Given the description of an element on the screen output the (x, y) to click on. 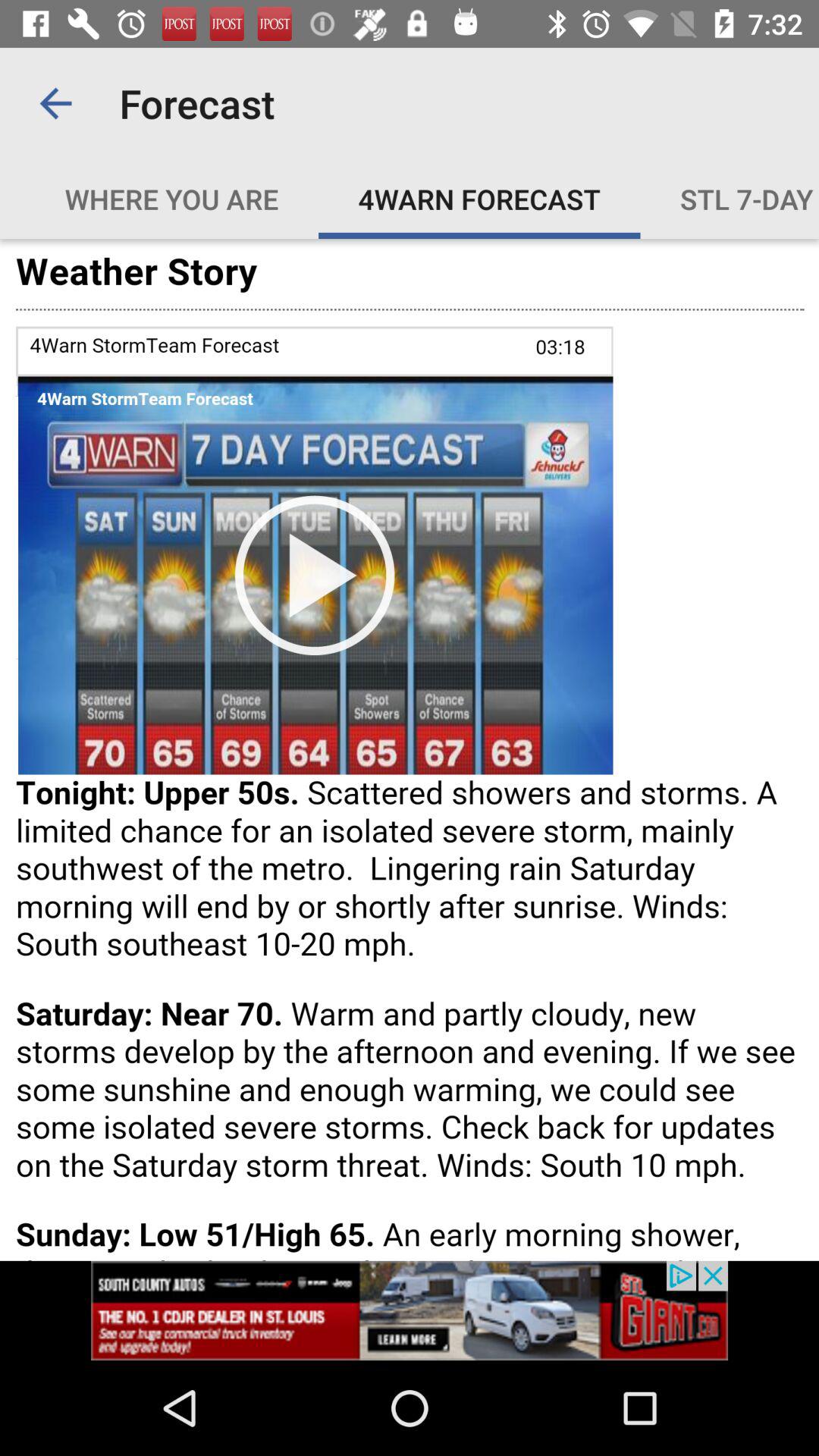
vedio page (409, 749)
